Given the description of an element on the screen output the (x, y) to click on. 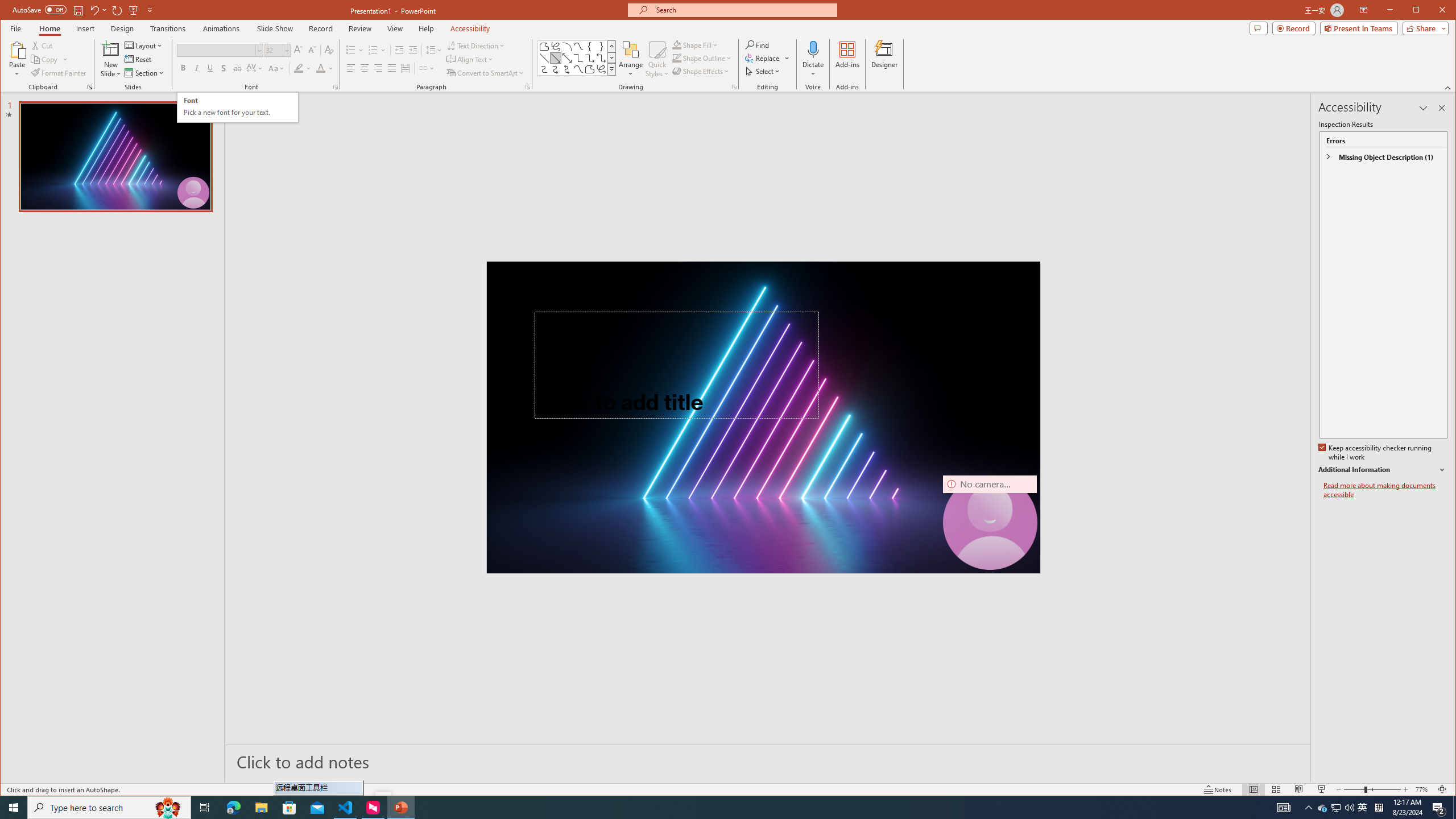
Camera 7, No camera detected. (990, 522)
